Given the description of an element on the screen output the (x, y) to click on. 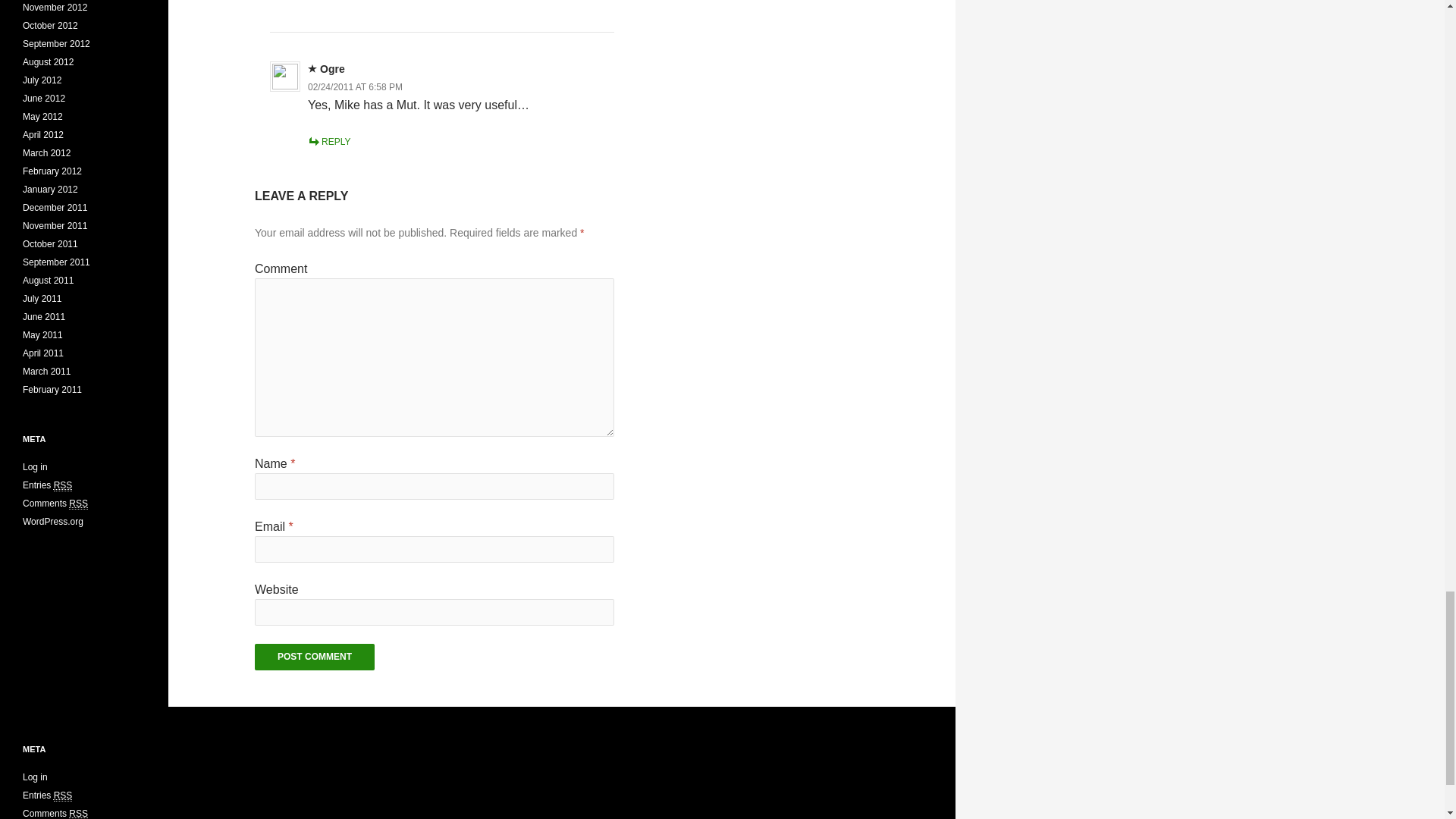
Ogre (332, 69)
REPLY (313, 0)
REPLY (328, 141)
Really Simple Syndication (62, 485)
Really Simple Syndication (77, 813)
Really Simple Syndication (62, 795)
Post Comment (314, 656)
Really Simple Syndication (77, 503)
Post Comment (314, 656)
